Given the description of an element on the screen output the (x, y) to click on. 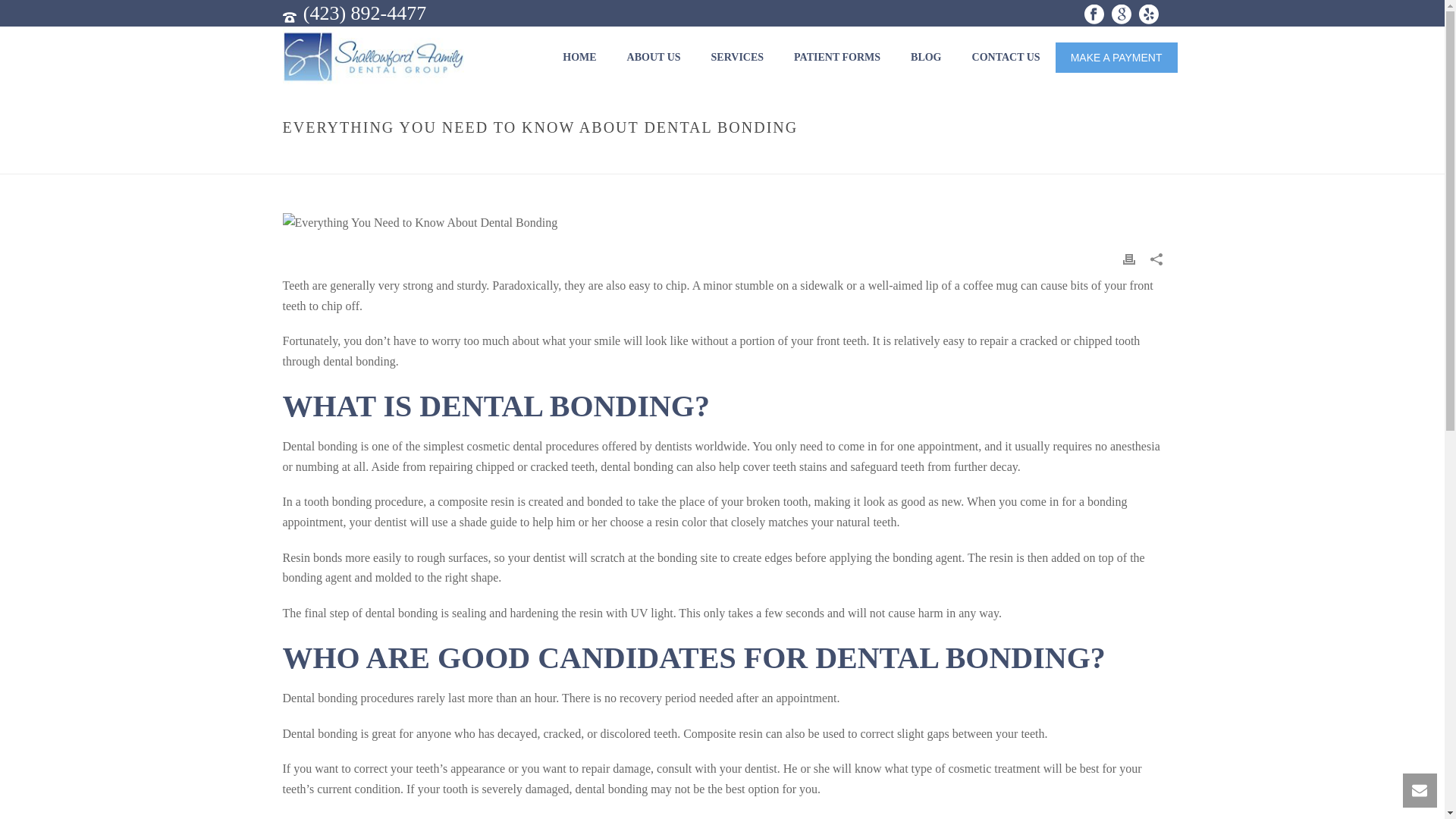
BLOG (925, 57)
Everything You Need to Know About Dental Bonding (419, 222)
MAKE A PAYMENT (1116, 57)
Everything You Need to Know About Dental Bonding (721, 222)
CONTACT US (1005, 57)
Print (1128, 258)
PATIENT FORMS (836, 57)
Going above and beyond to make you smile! (372, 56)
CONTACT US (1005, 57)
HOME (579, 57)
SERVICES (736, 57)
SERVICES (736, 57)
PATIENT FORMS (836, 57)
ABOUT US (653, 57)
HOME (579, 57)
